Given the description of an element on the screen output the (x, y) to click on. 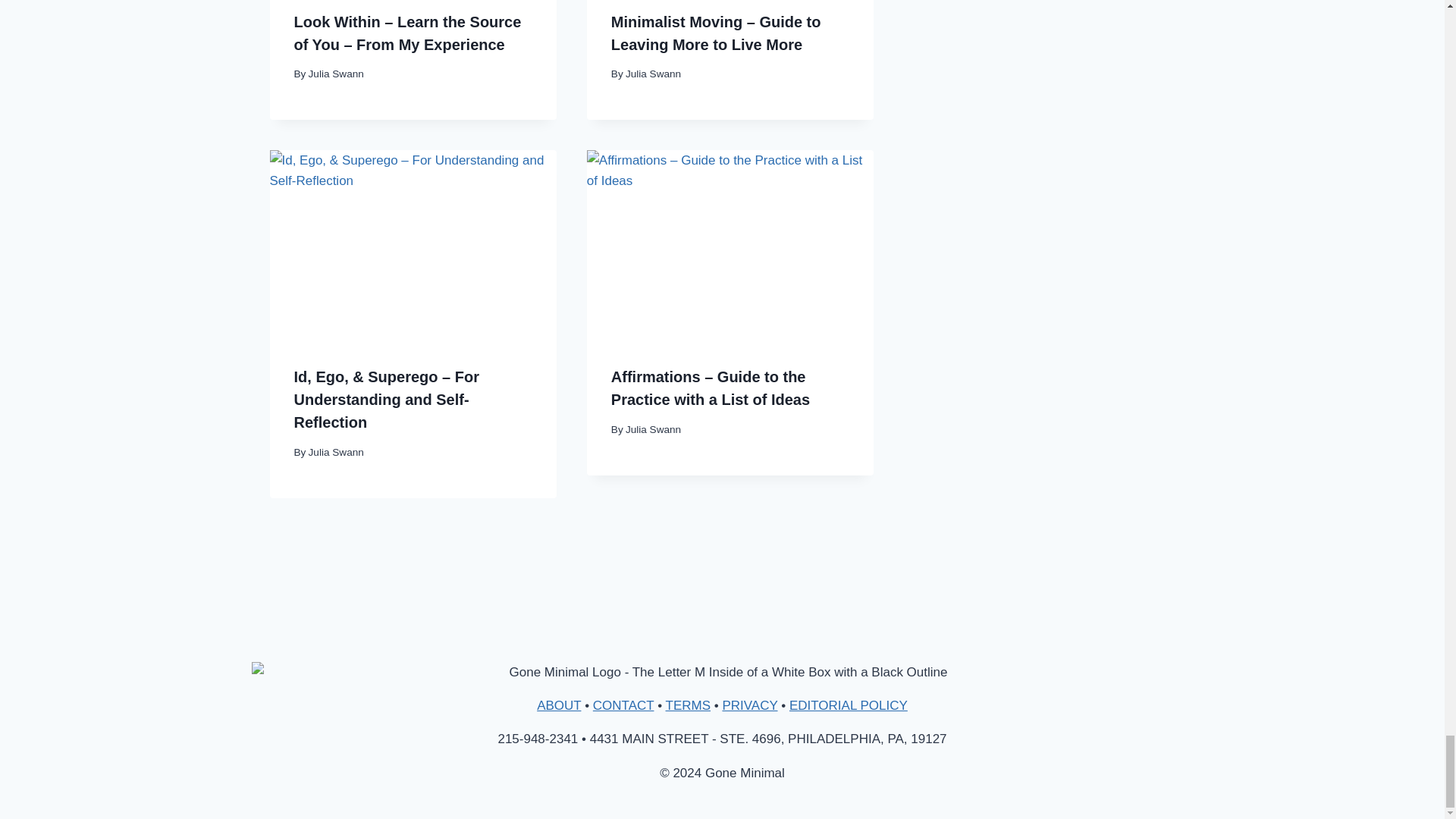
Julia Swann (653, 73)
Julia Swann (336, 73)
